Given the description of an element on the screen output the (x, y) to click on. 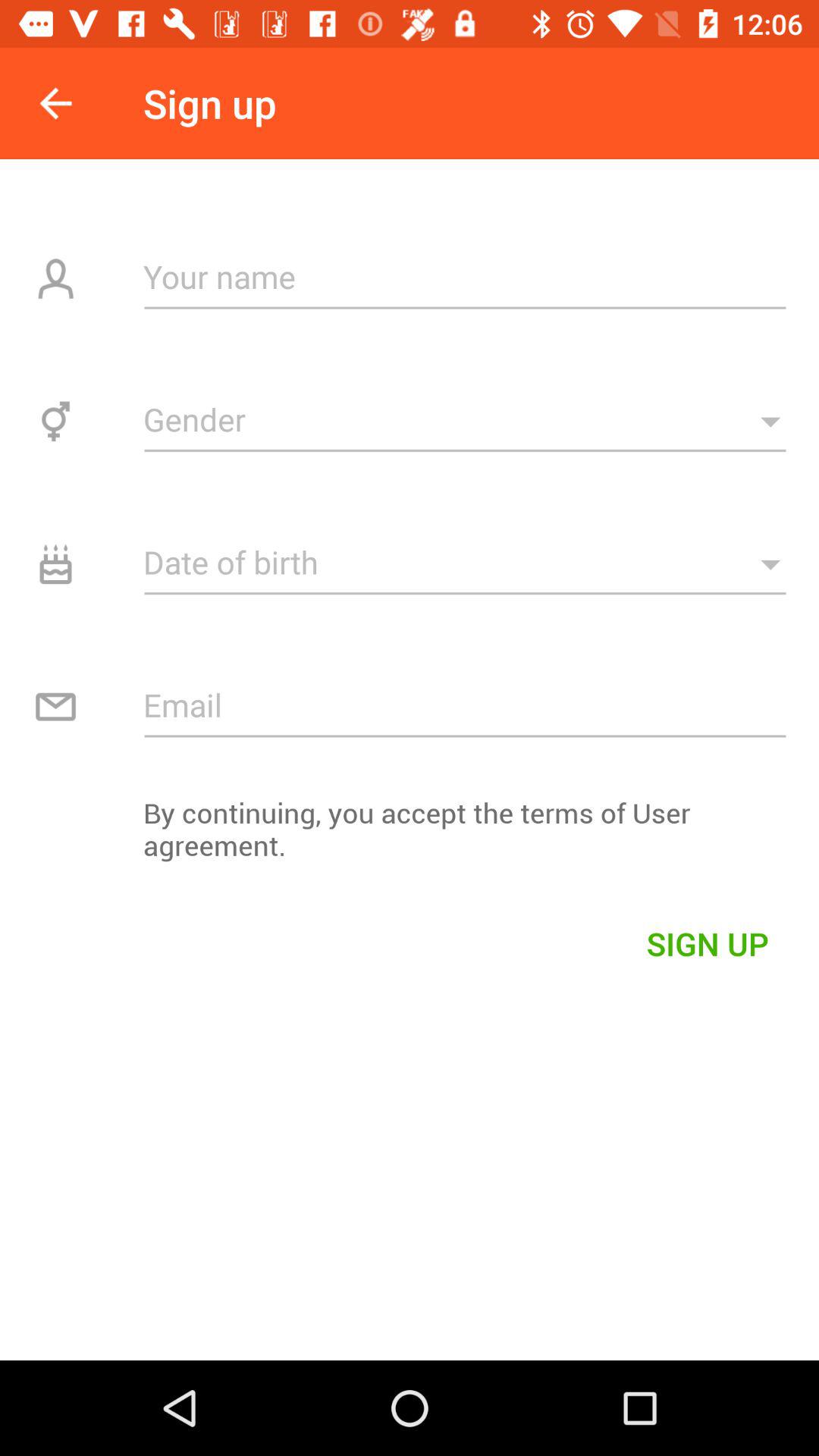
return to previous page (55, 103)
